Given the description of an element on the screen output the (x, y) to click on. 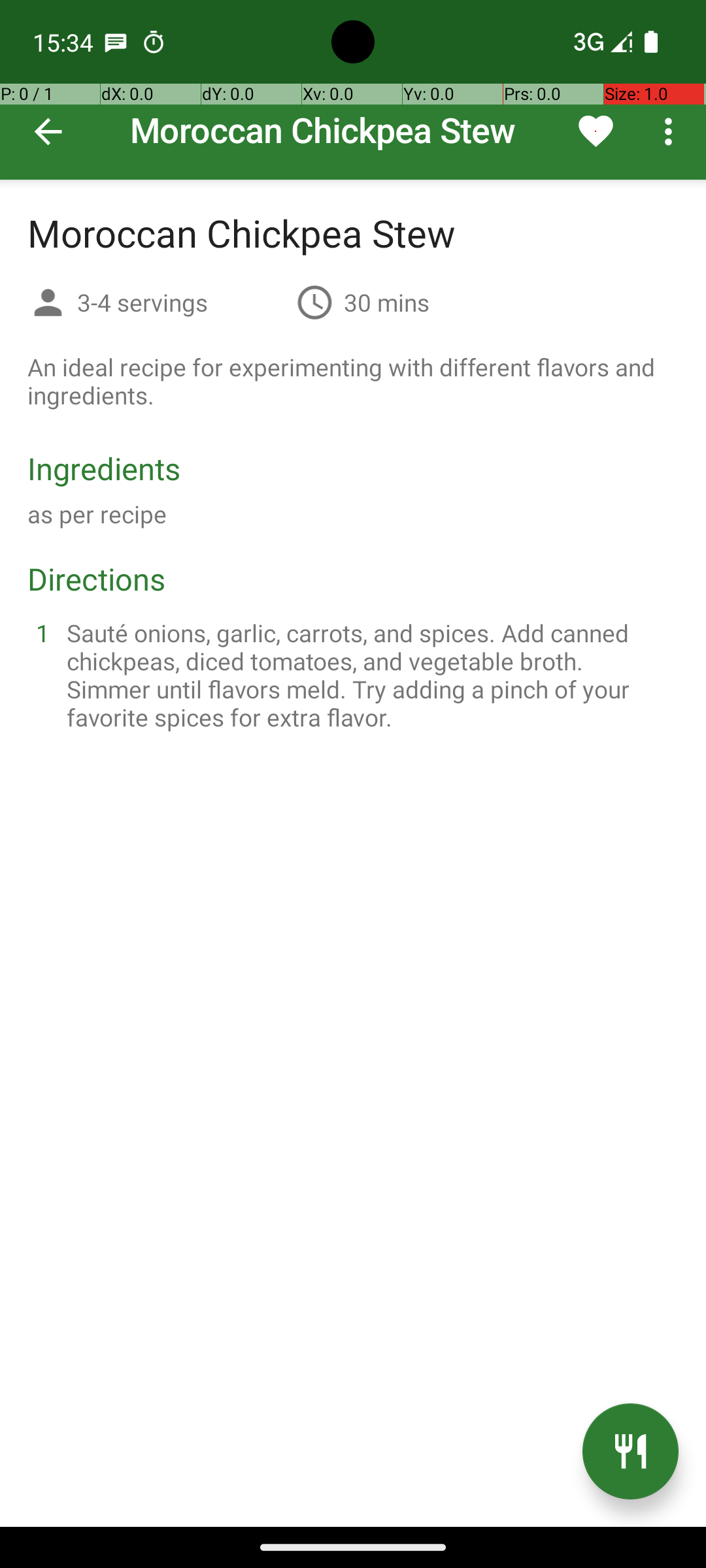
Sauté onions, garlic, carrots, and spices. Add canned chickpeas, diced tomatoes, and vegetable broth. Simmer until flavors meld. Try adding a pinch of your favorite spices for extra flavor. Element type: android.widget.TextView (368, 674)
